Given the description of an element on the screen output the (x, y) to click on. 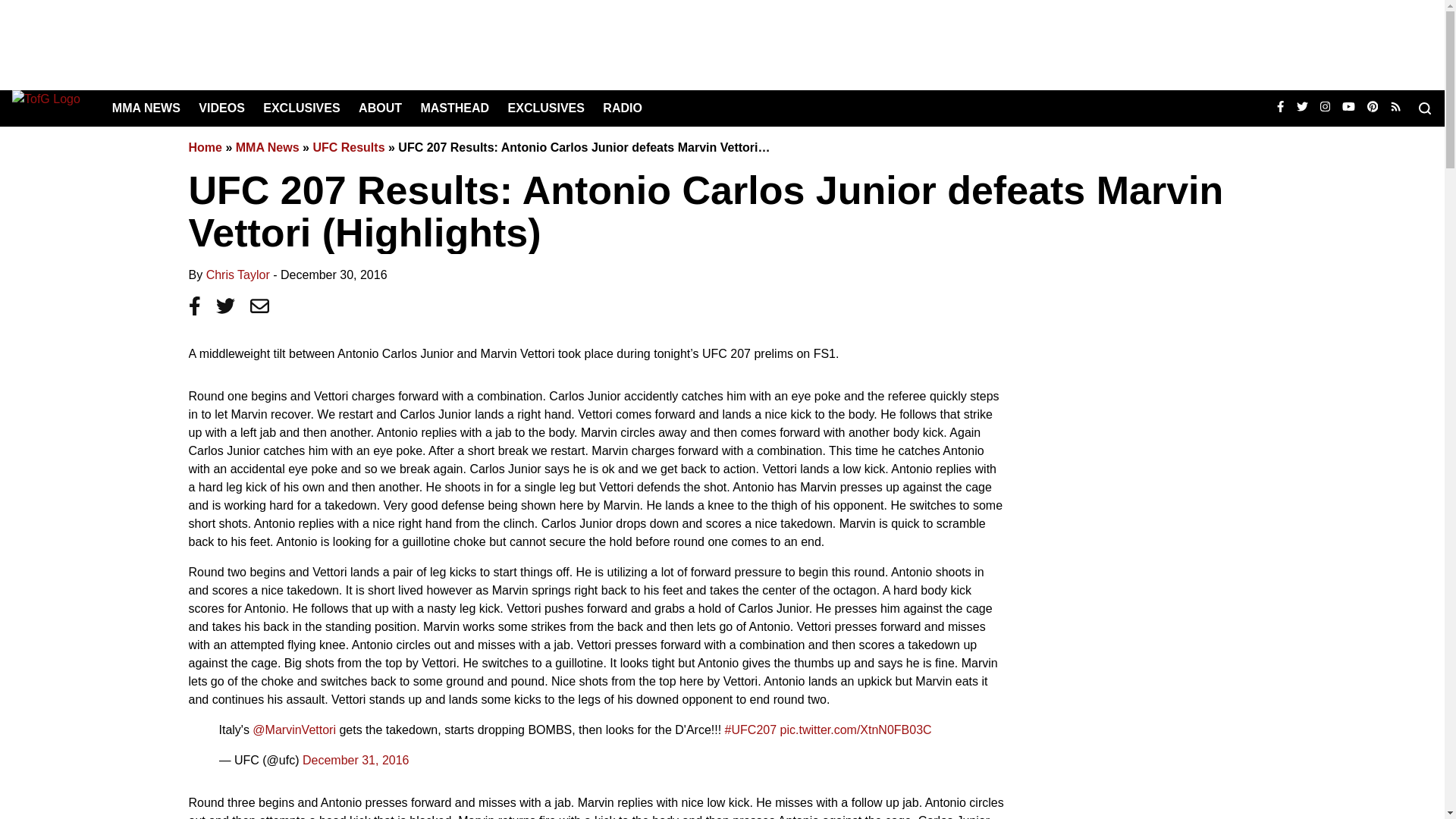
RADIO (622, 107)
EXCLUSIVES (301, 107)
MMA NEWS (146, 107)
EXCLUSIVES (546, 107)
MASTHEAD (454, 107)
VIDEOS (221, 107)
ABOUT (379, 107)
